Given the description of an element on the screen output the (x, y) to click on. 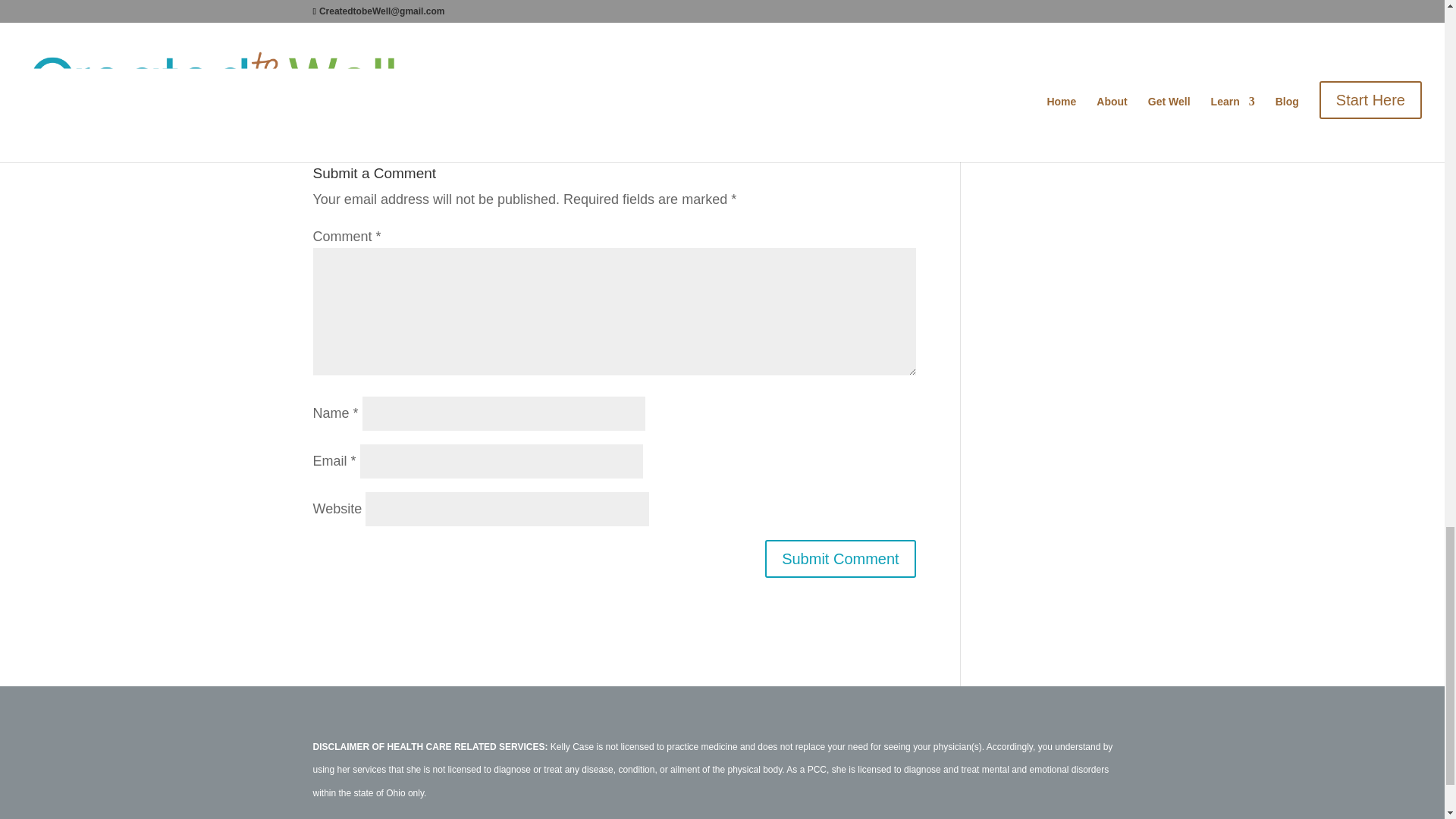
Josh Freshy (433, 84)
cc (568, 84)
Submit Comment (840, 558)
Compfight (526, 84)
Submit Comment (840, 558)
